Given the description of an element on the screen output the (x, y) to click on. 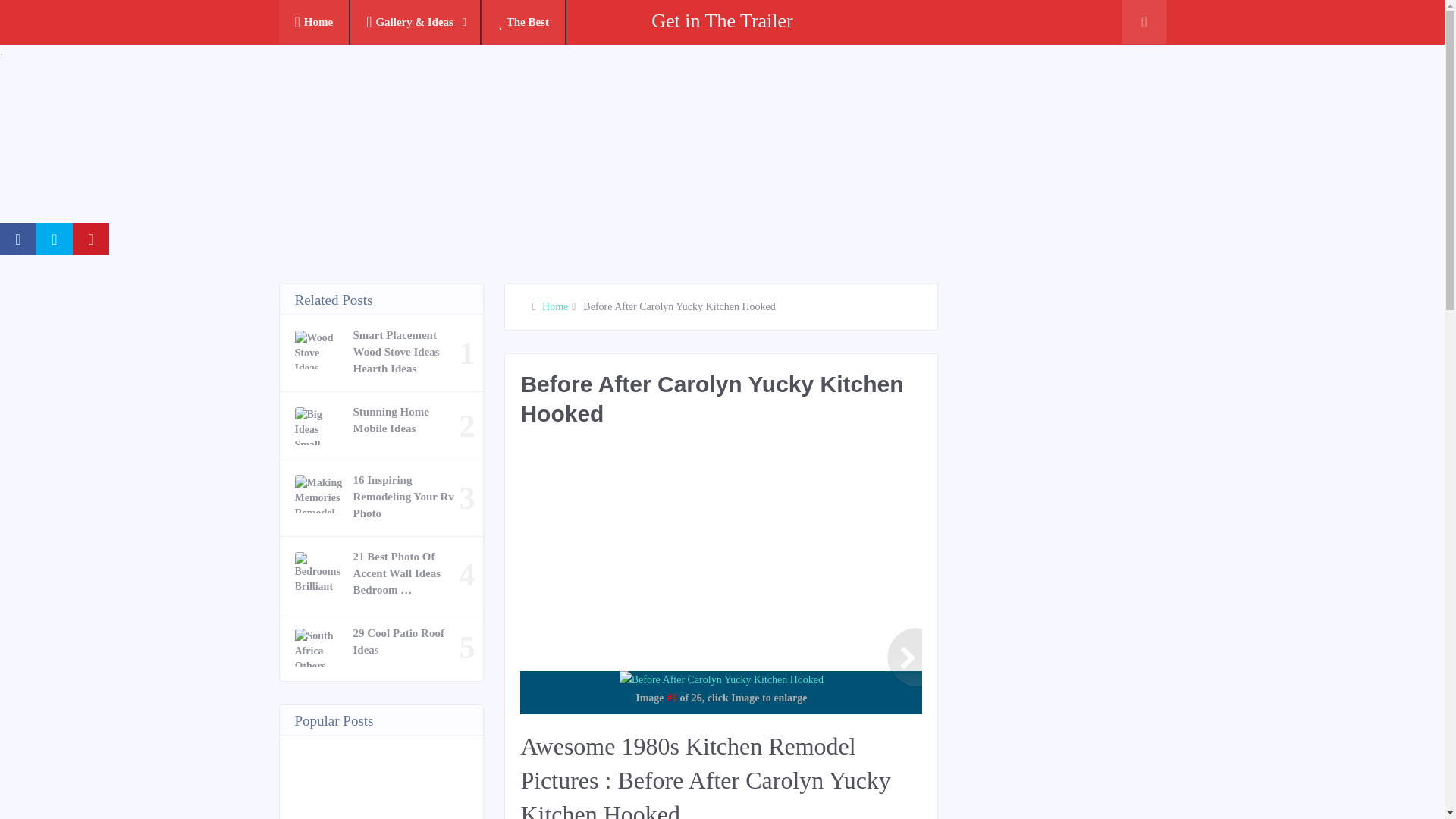
Smart Placement Wood Stove Ideas Hearth Ideas (406, 351)
21 Best Photo Of Accent Wall Ideas Bedroom Ideas (406, 572)
Get in The Trailer (721, 20)
Advertisement (795, 557)
Stunning Home Mobile Ideas (406, 419)
Home (554, 306)
The Best (523, 22)
16 Inspiring Remodeling Your Rv Photo (406, 496)
Home (314, 22)
